Given the description of an element on the screen output the (x, y) to click on. 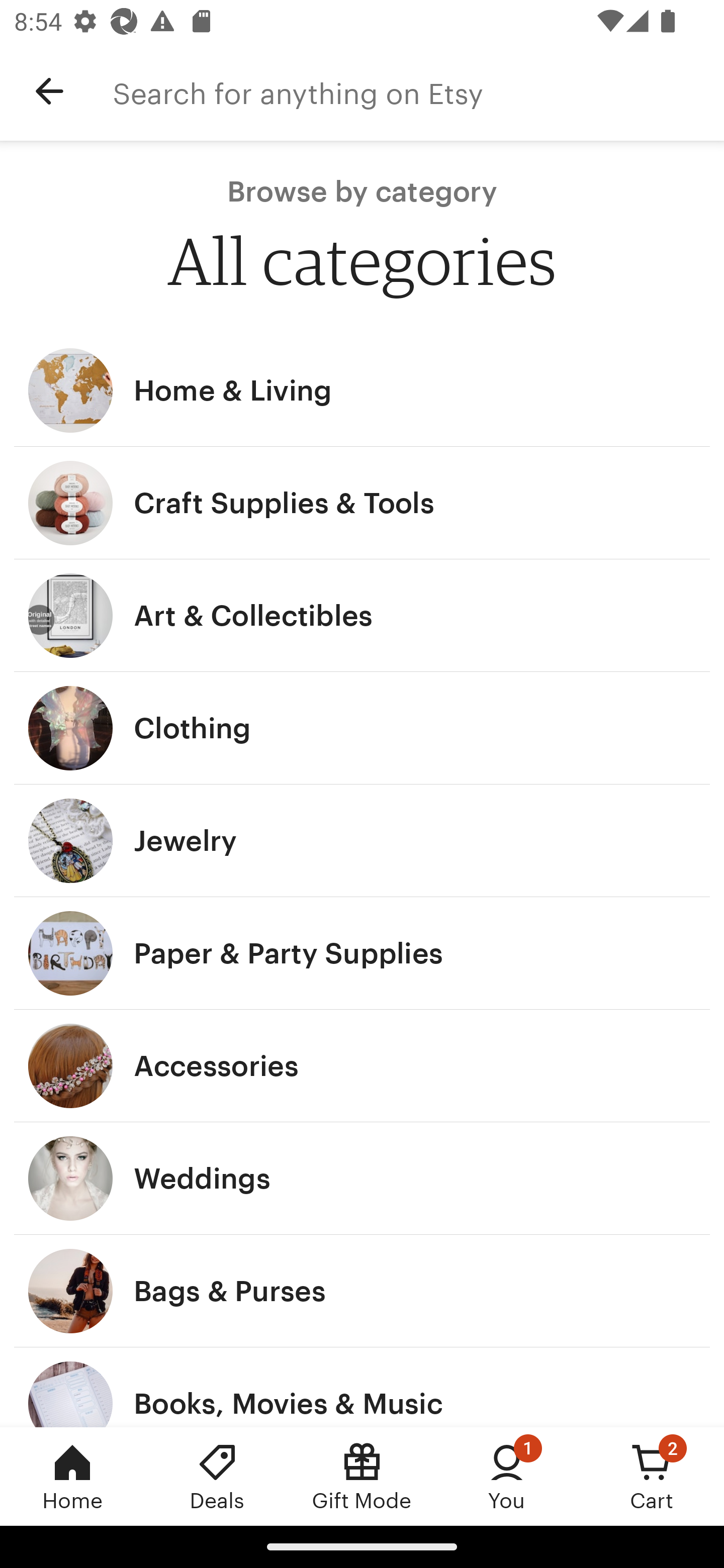
Navigate up (49, 91)
Search for anything on Etsy (418, 91)
Home & Living (361, 389)
Craft Supplies & Tools (361, 502)
Art & Collectibles (361, 615)
Clothing (361, 728)
Jewelry (361, 840)
Paper & Party Supplies (361, 952)
Accessories (361, 1065)
Weddings (361, 1178)
Bags & Purses (361, 1290)
Books, Movies & Music (361, 1386)
Deals (216, 1475)
Gift Mode (361, 1475)
You, 1 new notification You (506, 1475)
Cart, 2 new notifications Cart (651, 1475)
